Given the description of an element on the screen output the (x, y) to click on. 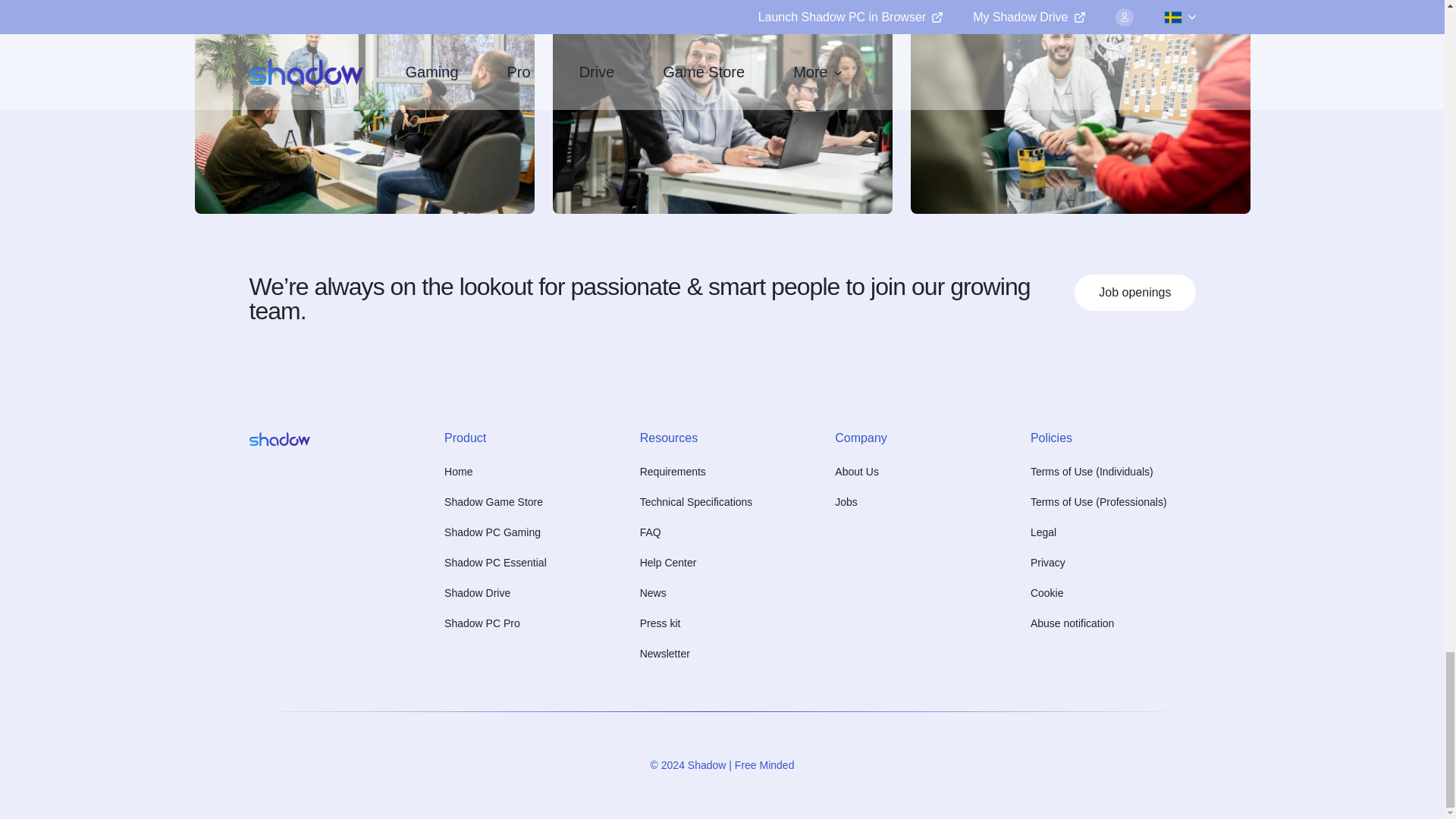
Shadow Game Store (493, 502)
Shadow PC Gaming (492, 532)
Job openings (1134, 292)
Home (457, 471)
